Given the description of an element on the screen output the (x, y) to click on. 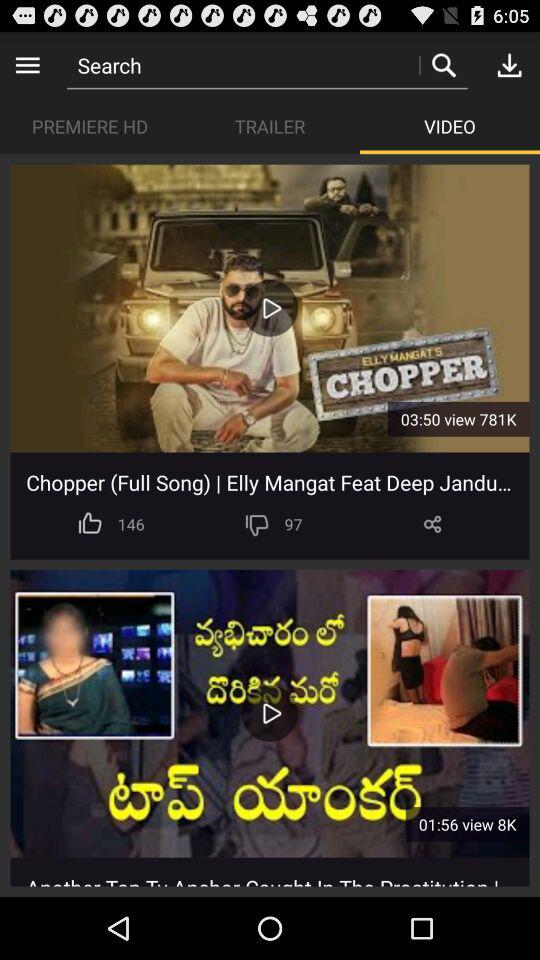
like video (89, 523)
